Given the description of an element on the screen output the (x, y) to click on. 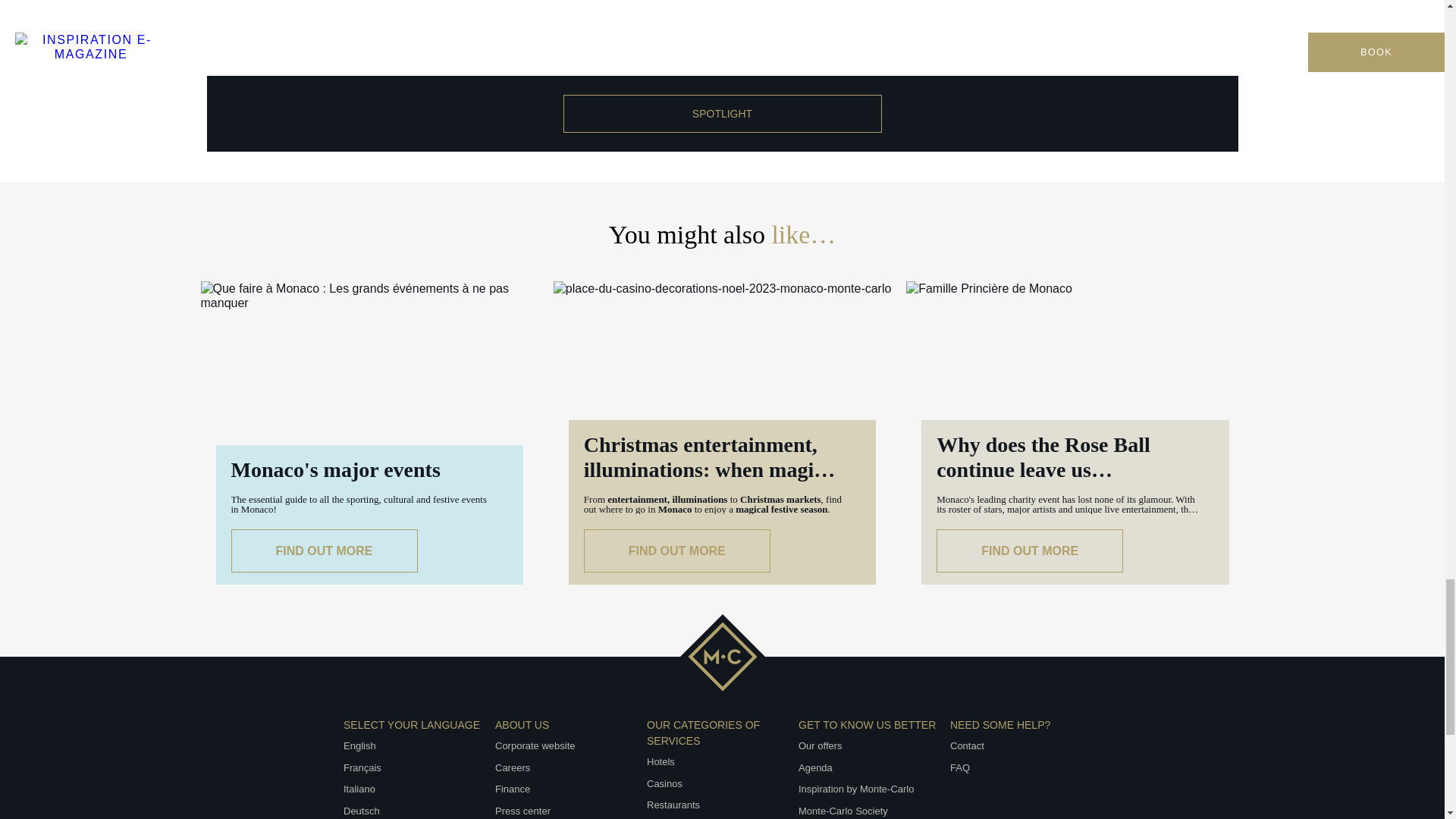
FIND OUT MORE (676, 550)
FIND OUT MORE (1029, 550)
Instagram (652, 773)
SPOTLIGHT (721, 113)
Twitter (686, 773)
FIND OUT MORE (323, 550)
Facebook (617, 773)
